Given the description of an element on the screen output the (x, y) to click on. 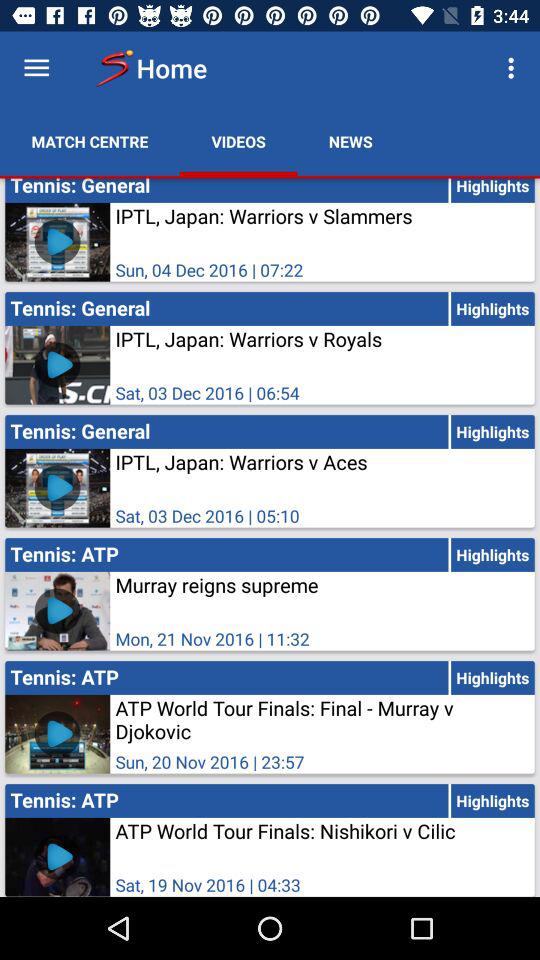
launch the icon next to videos item (90, 141)
